Given the description of an element on the screen output the (x, y) to click on. 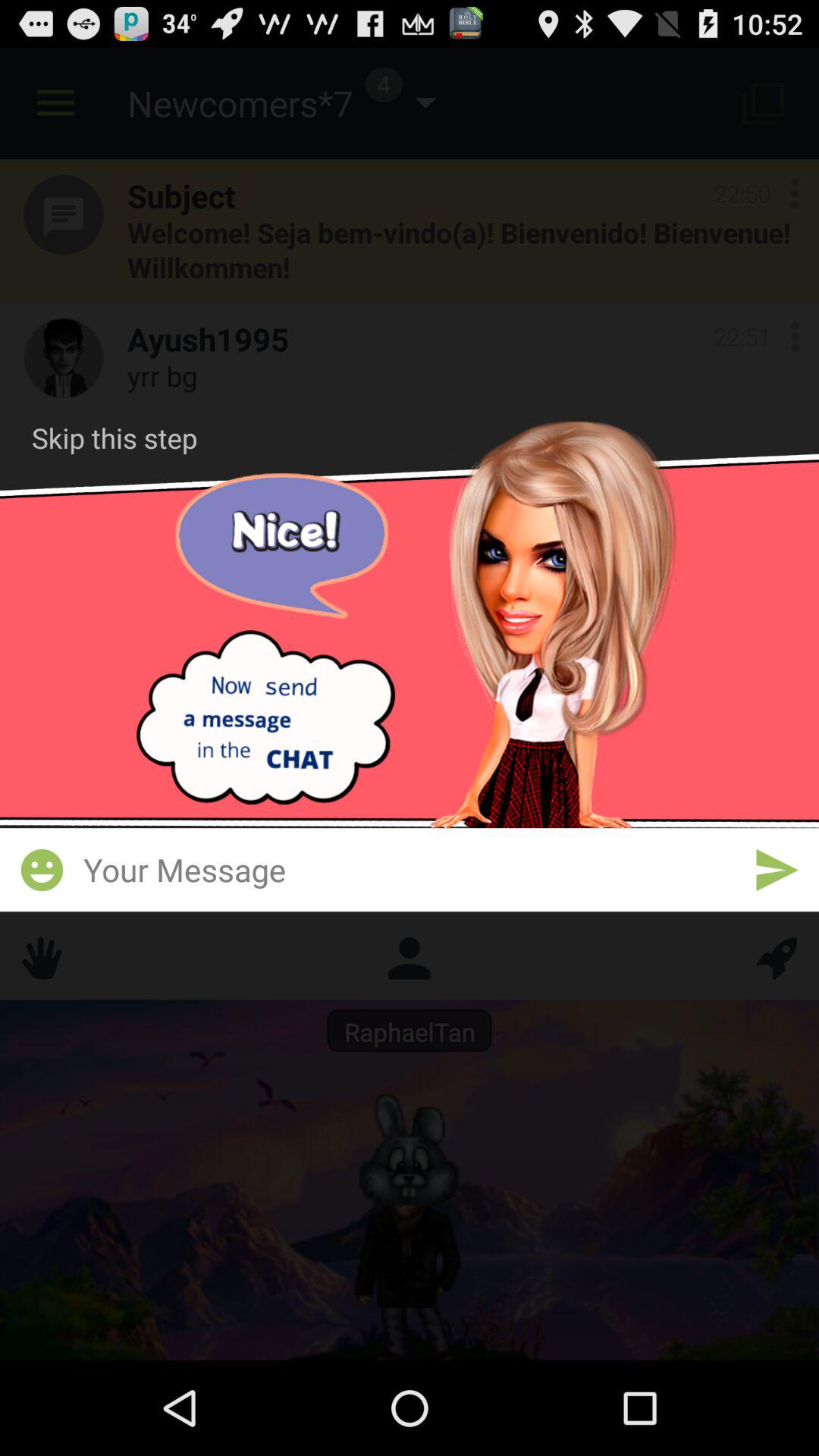
write your message (409, 869)
